Given the description of an element on the screen output the (x, y) to click on. 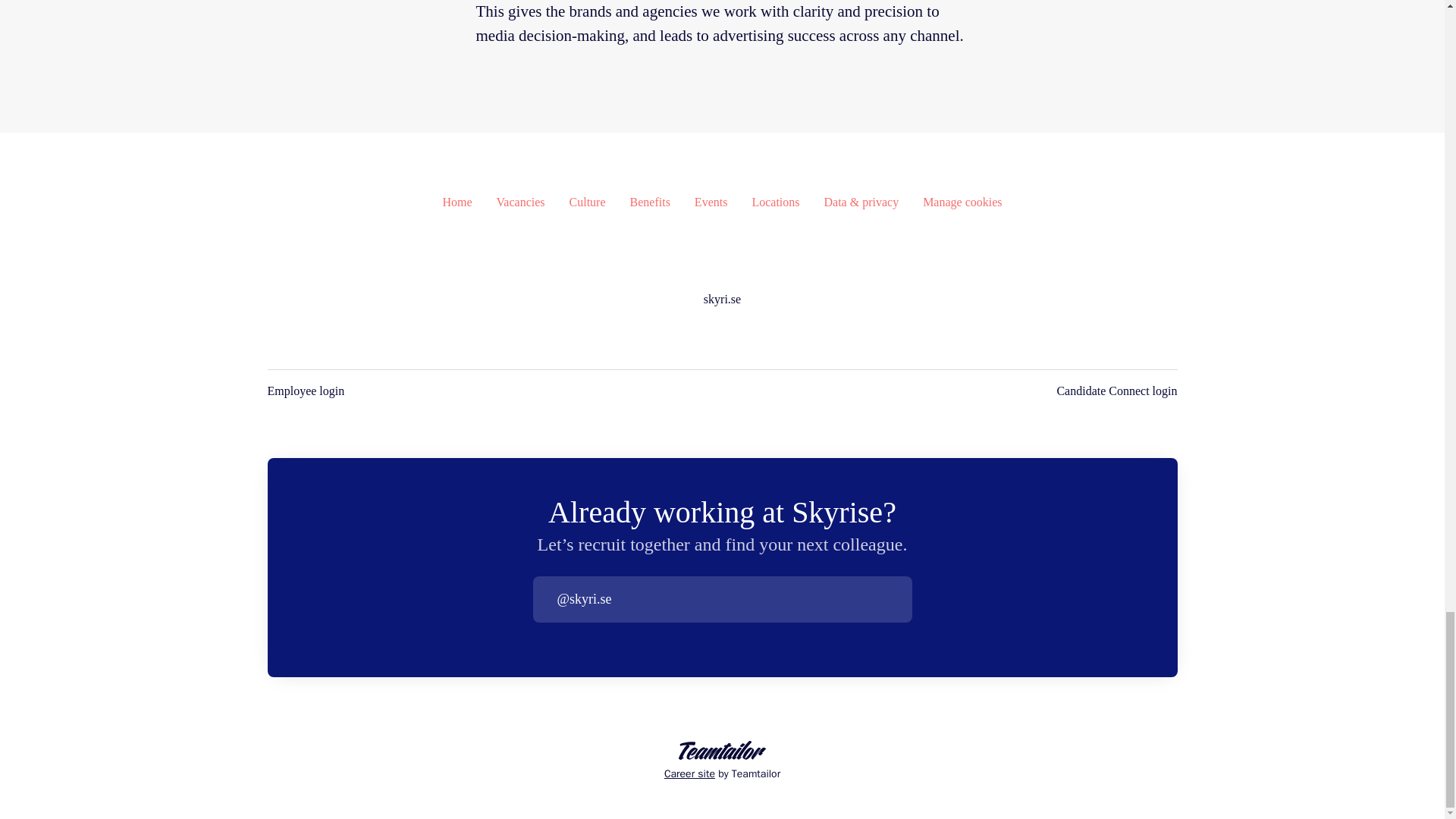
Vacancies (520, 202)
Benefits (649, 202)
Log in (899, 598)
skyri.se (722, 299)
Events (710, 202)
Culture (587, 202)
Manage cookies (962, 202)
Home (456, 202)
Locations (774, 202)
